Given the description of an element on the screen output the (x, y) to click on. 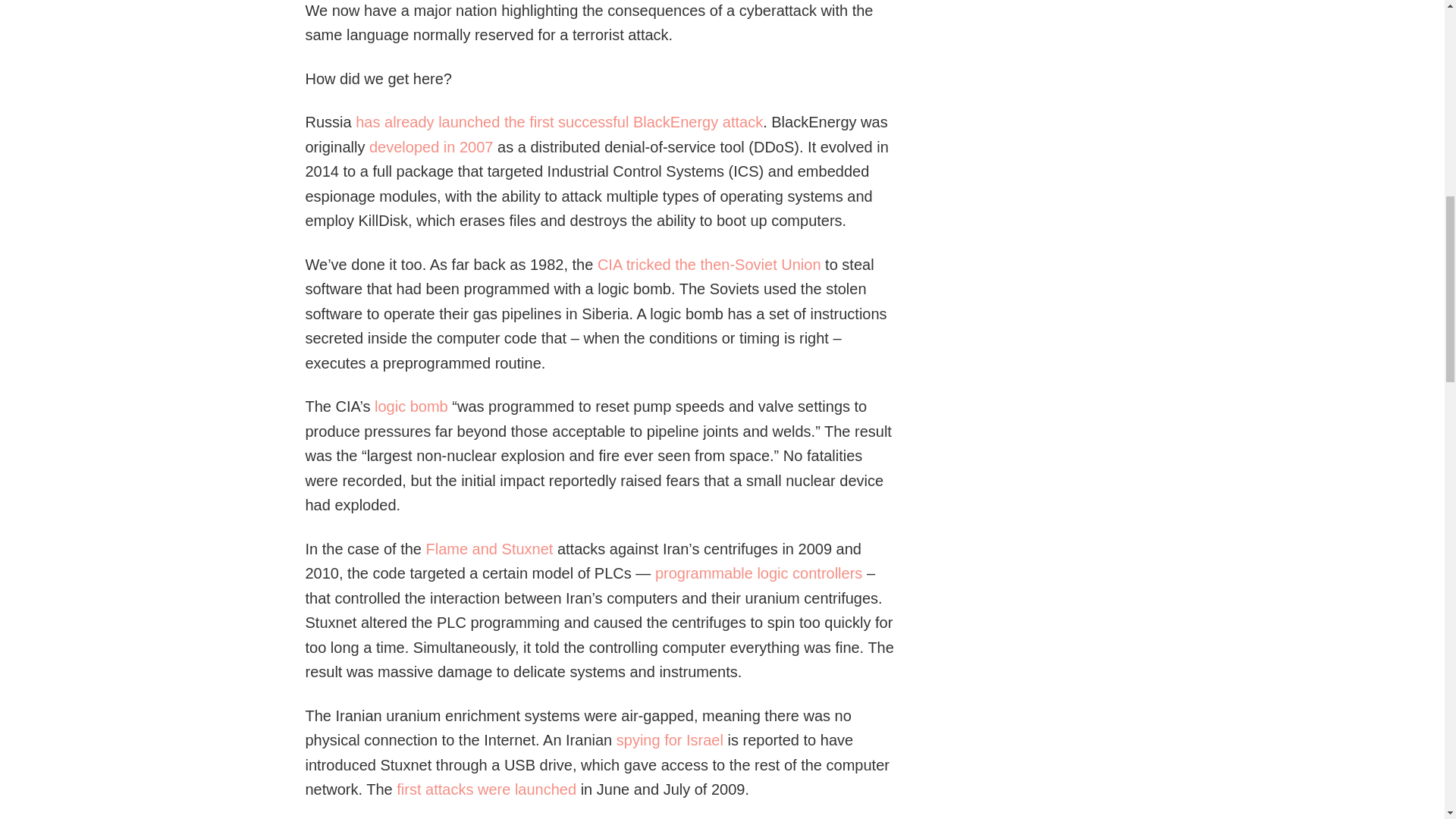
CIA tricked the then-Soviet Union (708, 264)
spying for Israel (669, 740)
first attacks were launched (486, 789)
developed in 2007 (431, 146)
programmable logic controllers (758, 573)
Flame and Stuxnet (489, 548)
has already launched the first successful BlackEnergy attack (558, 121)
logic bomb (411, 406)
